Given the description of an element on the screen output the (x, y) to click on. 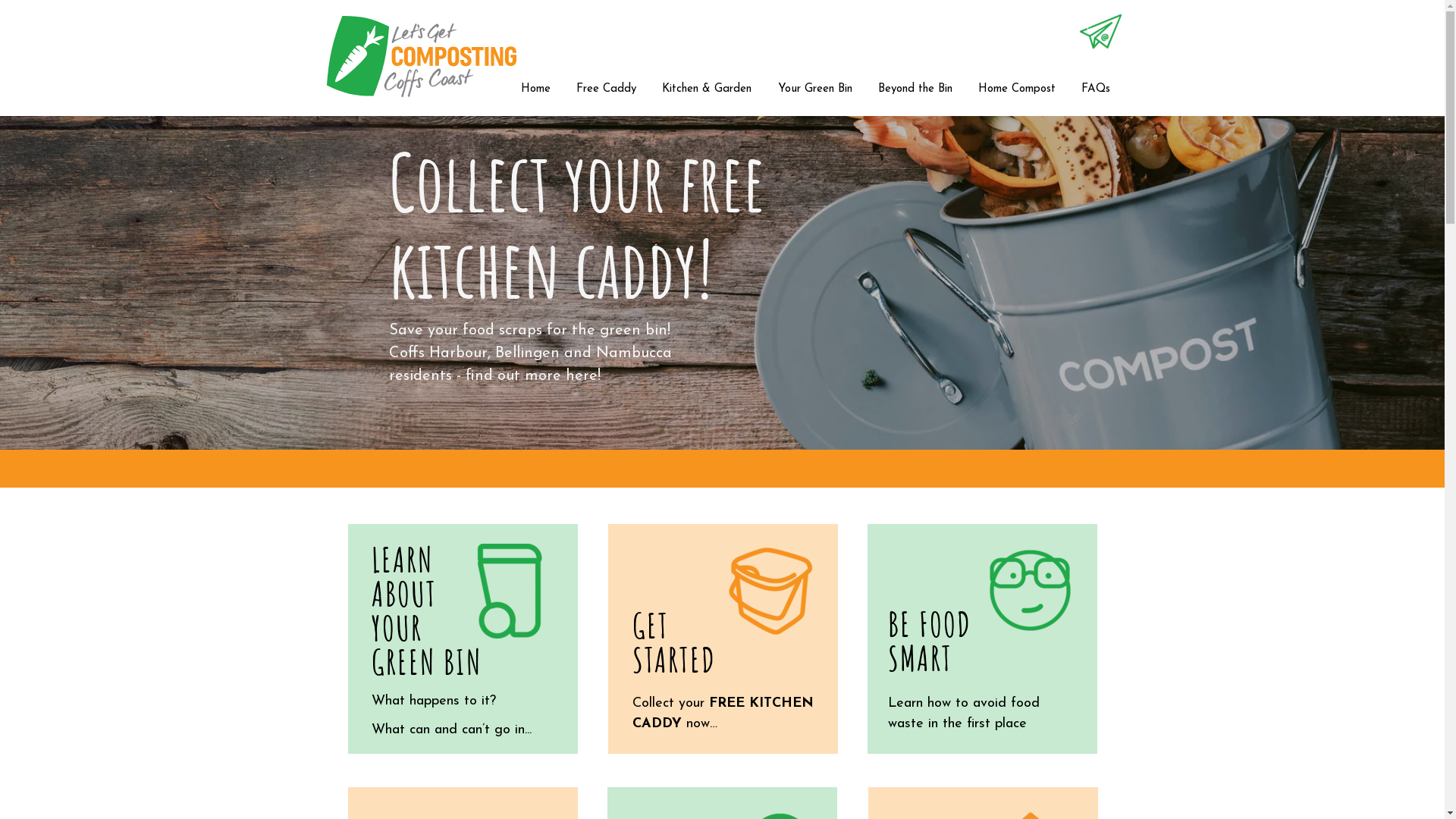
Your Green Bin Element type: text (814, 89)
find out more here Element type: text (531, 375)
Kitchen & Garden Element type: text (706, 89)
Home Element type: text (535, 89)
Home Compost Element type: text (1016, 89)
Beyond the Bin Element type: text (914, 89)
FAQs Element type: text (1095, 89)
Free Caddy Element type: text (606, 89)
